Given the description of an element on the screen output the (x, y) to click on. 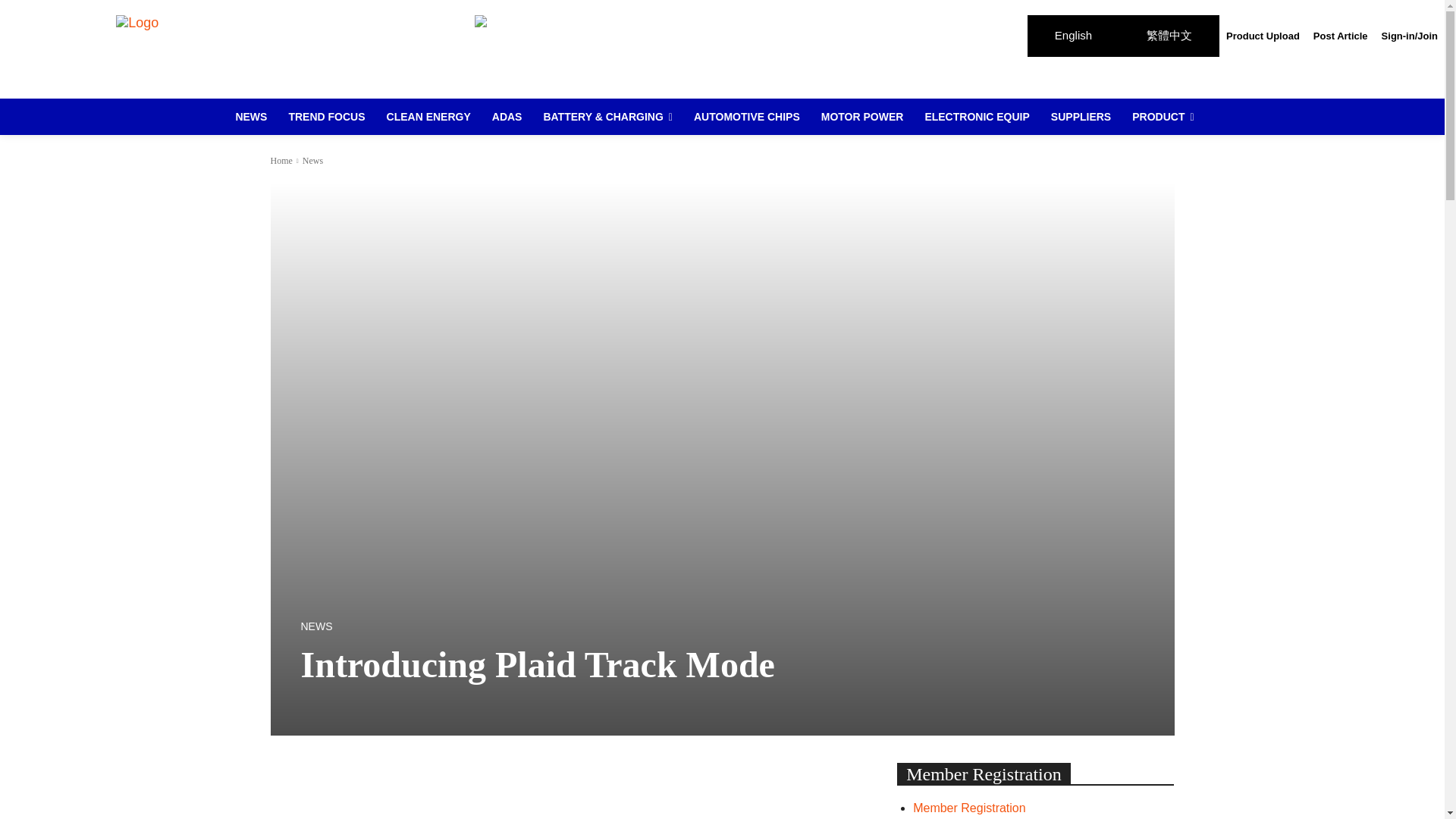
English (1073, 35)
NEWS (251, 116)
English (1073, 35)
Post Article (1340, 35)
Product Upload (1263, 35)
View all posts in News (312, 160)
